Given the description of an element on the screen output the (x, y) to click on. 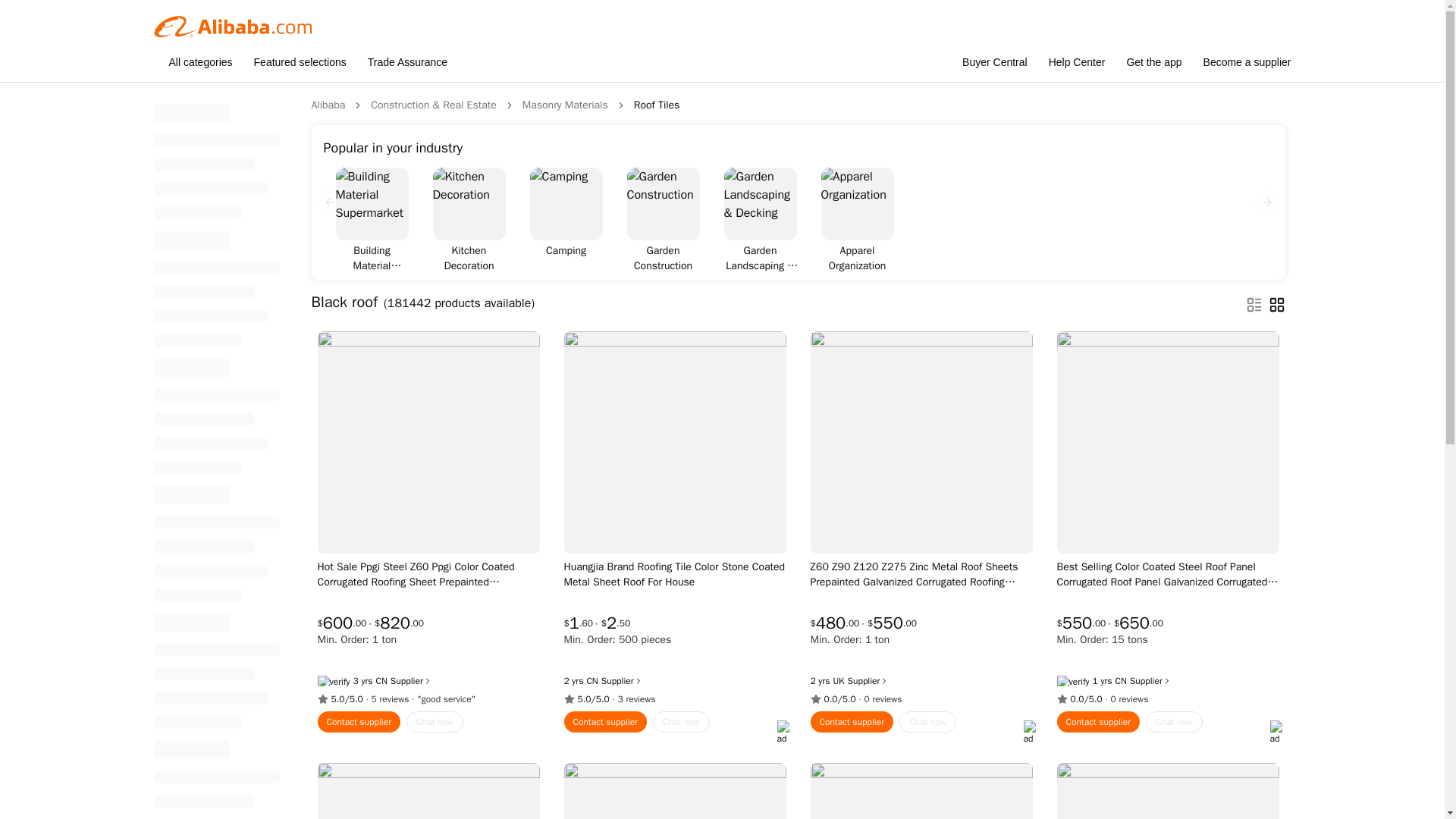
Contact supplier (851, 721)
Supplier (622, 680)
Chat now (927, 721)
Contact supplier (605, 721)
Masonry Materials (565, 105)
Chat now (434, 721)
Supplier (411, 680)
Beijing Hua Yuan Jia Ye Building Materials Co., Ltd. (591, 680)
Alibaba (328, 105)
Contact supplier (358, 721)
SHANGANG METAL MATERIALS CO., LTD (838, 680)
Shandong Rigang New Material Co., Ltd. (381, 680)
Next slide (1265, 202)
